Given the description of an element on the screen output the (x, y) to click on. 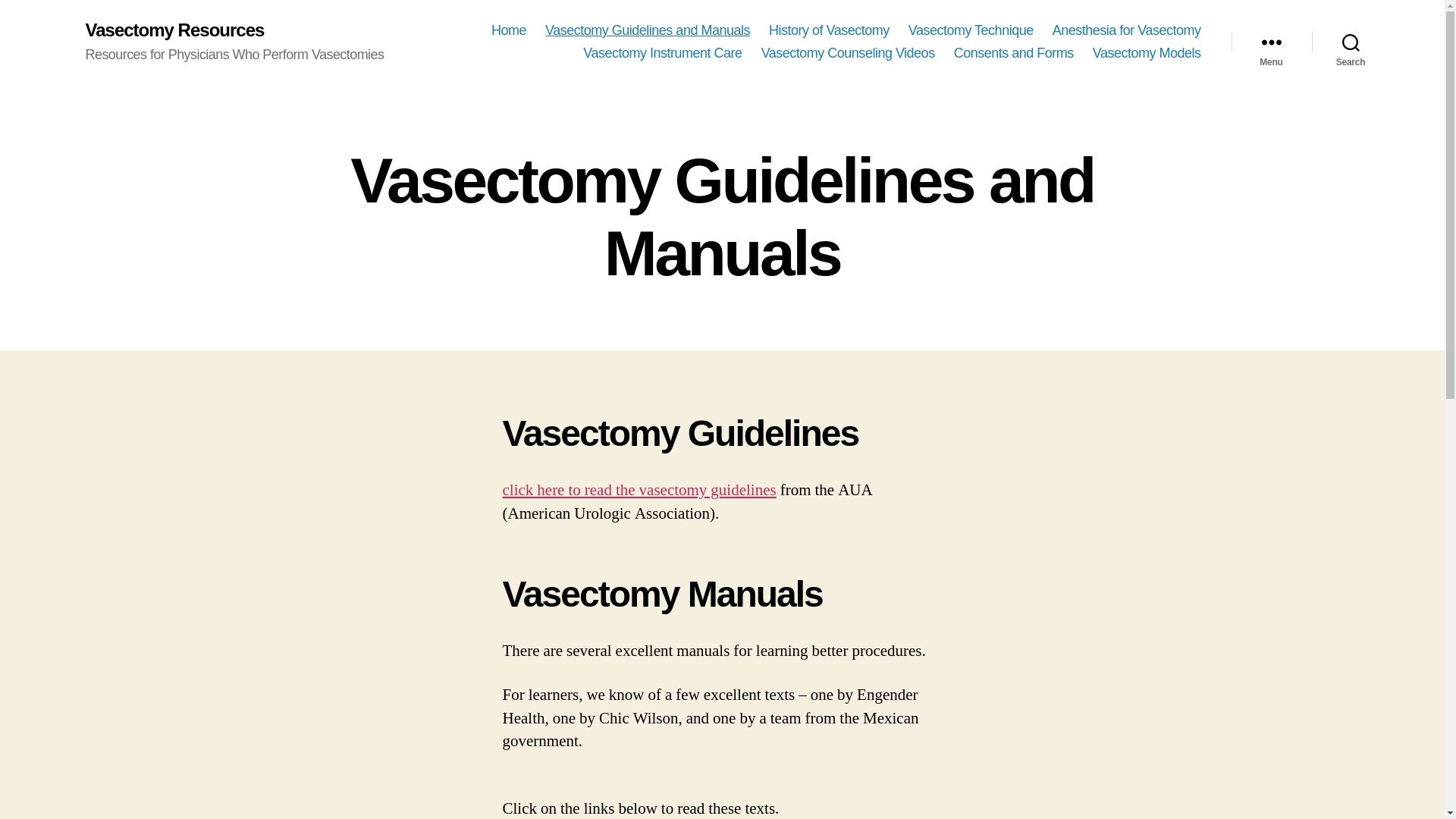
Anesthesia for Vasectomy (1126, 30)
Consents and Forms (1013, 53)
Vasectomy Counseling Videos (847, 53)
Vasectomy Technique (970, 30)
Vasectomy Guidelines and Manuals (646, 30)
Menu (1271, 41)
Vasectomy Instrument Care (662, 53)
Home (508, 30)
Search (1350, 41)
Vasectomy Resources (173, 30)
